Given the description of an element on the screen output the (x, y) to click on. 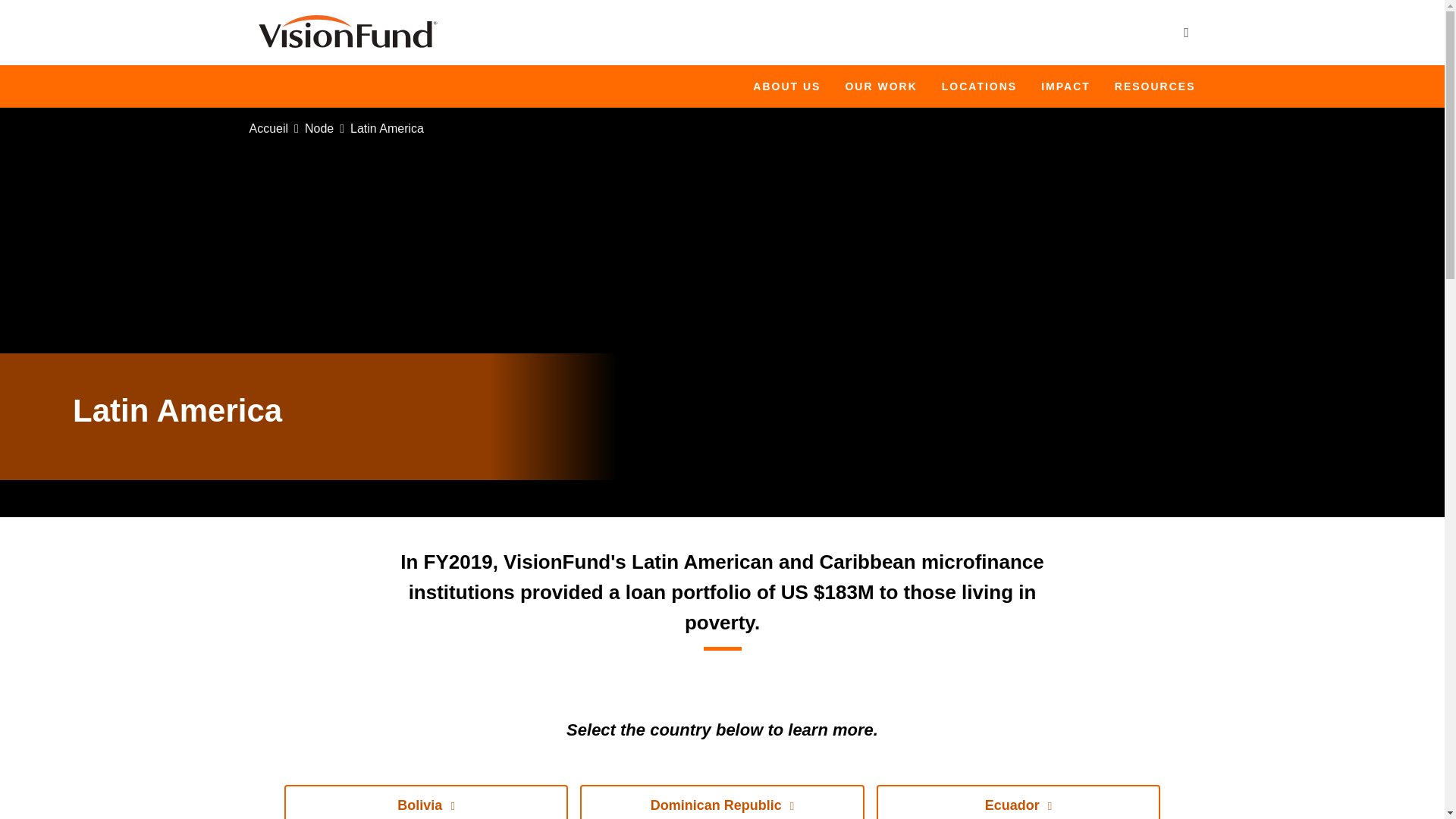
OUR WORK (880, 86)
ABOUT US (786, 86)
Accueil (346, 32)
